Given the description of an element on the screen output the (x, y) to click on. 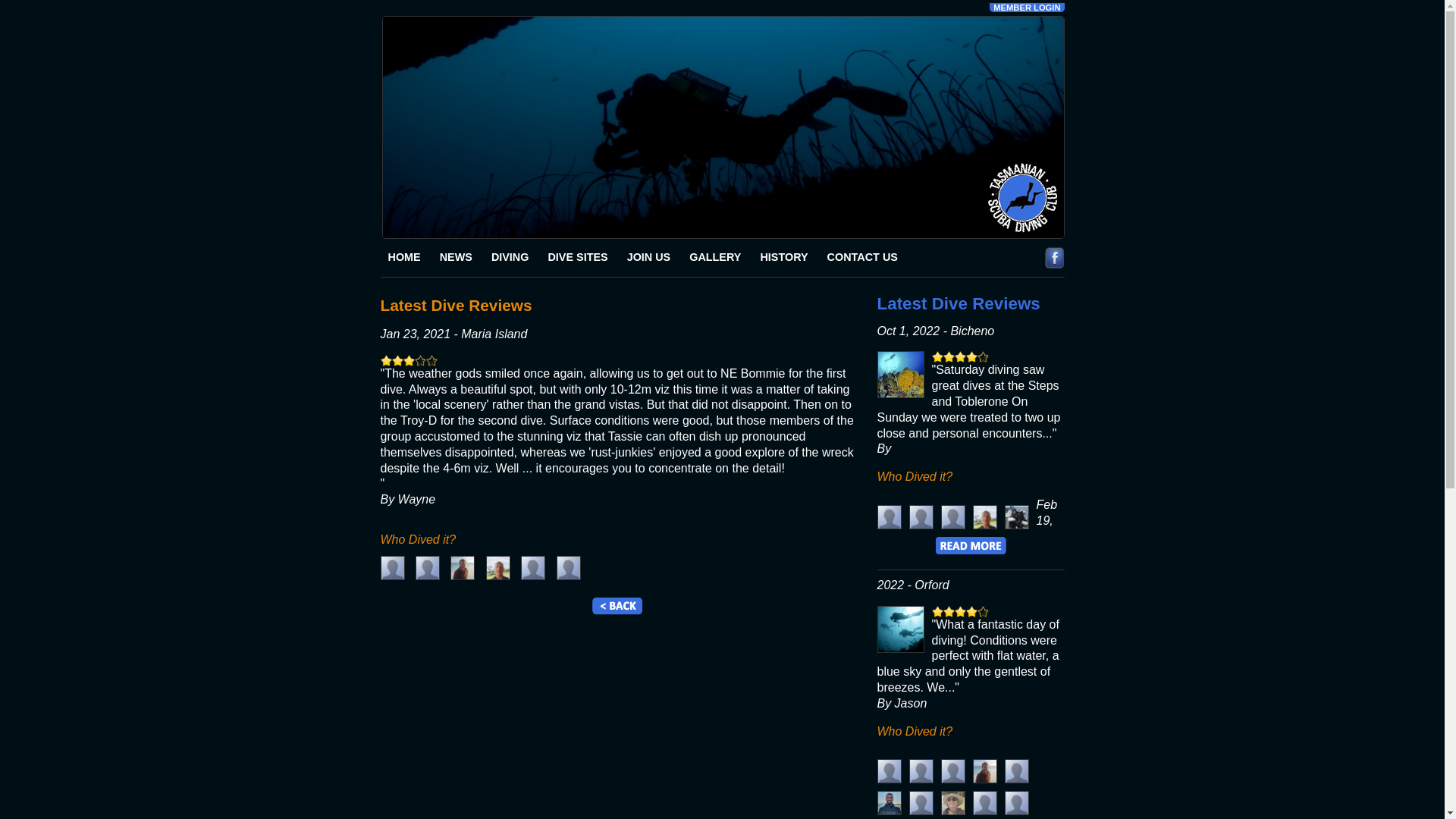
Yvonne Marschke Element type: hover (1016, 771)
Jake Blokker Element type: hover (427, 567)
Mark Kolodziej  Element type: hover (392, 567)
John harbinson Element type: hover (920, 517)
colin brett Element type: hover (984, 802)
All done? Click to go back. Element type: hover (616, 605)
DIVE SITES Element type: text (577, 257)
Wayne Murray Element type: hover (984, 771)
Diana lugo Element type: hover (1016, 802)
NEWS Element type: text (456, 257)
Bob van der Velde Element type: hover (498, 567)
Click to check out this review in full Element type: hover (970, 545)
MMK Element type: hover (1016, 517)
MEMBER LOGIN Element type: text (1026, 7)
HOME Element type: text (404, 257)
Bob vander Velde Element type: hover (984, 517)
HISTORY Element type: text (783, 257)
Ashley Lindsay Element type: hover (952, 517)
DIVING Element type: text (509, 257)
GALLERY Element type: text (714, 257)
Wayne Murray Element type: hover (462, 567)
CONTACT US Element type: text (862, 257)
JOIN US Element type: text (648, 257)
Jane Element type: hover (952, 802)
Juan rojas Element type: hover (952, 771)
JohnH Element type: hover (568, 567)
Click to check out this review in full Element type: hover (970, 557)
Al Element type: hover (532, 567)
All done? Click to go back. Element type: hover (616, 610)
Nick Element type: hover (888, 802)
Jason Hoare Element type: hover (920, 802)
Lenka Element type: hover (888, 771)
Steven Payne Element type: hover (888, 517)
Rose Fuggle Element type: hover (920, 771)
